Given the description of an element on the screen output the (x, y) to click on. 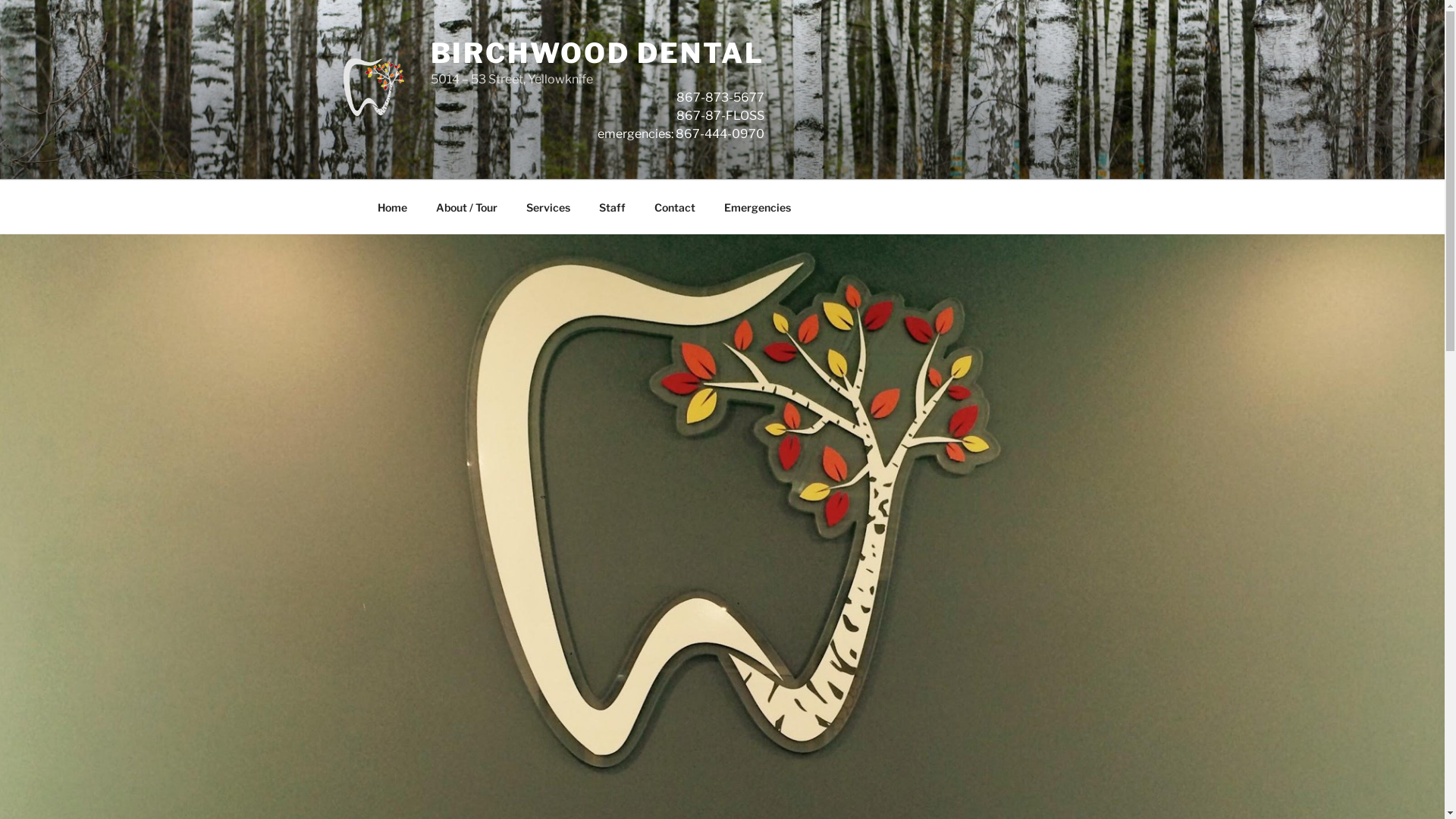
867-873-5677 Element type: text (720, 97)
BIRCHWOOD DENTAL Element type: text (597, 52)
Skip to content Element type: text (0, 0)
Home Element type: text (392, 206)
Staff Element type: text (611, 206)
867-444-0970 Element type: text (719, 133)
867-87-FLOSS Element type: text (720, 115)
Emergencies Element type: text (757, 206)
About / Tour Element type: text (467, 206)
Contact Element type: text (675, 206)
Services Element type: text (547, 206)
